Given the description of an element on the screen output the (x, y) to click on. 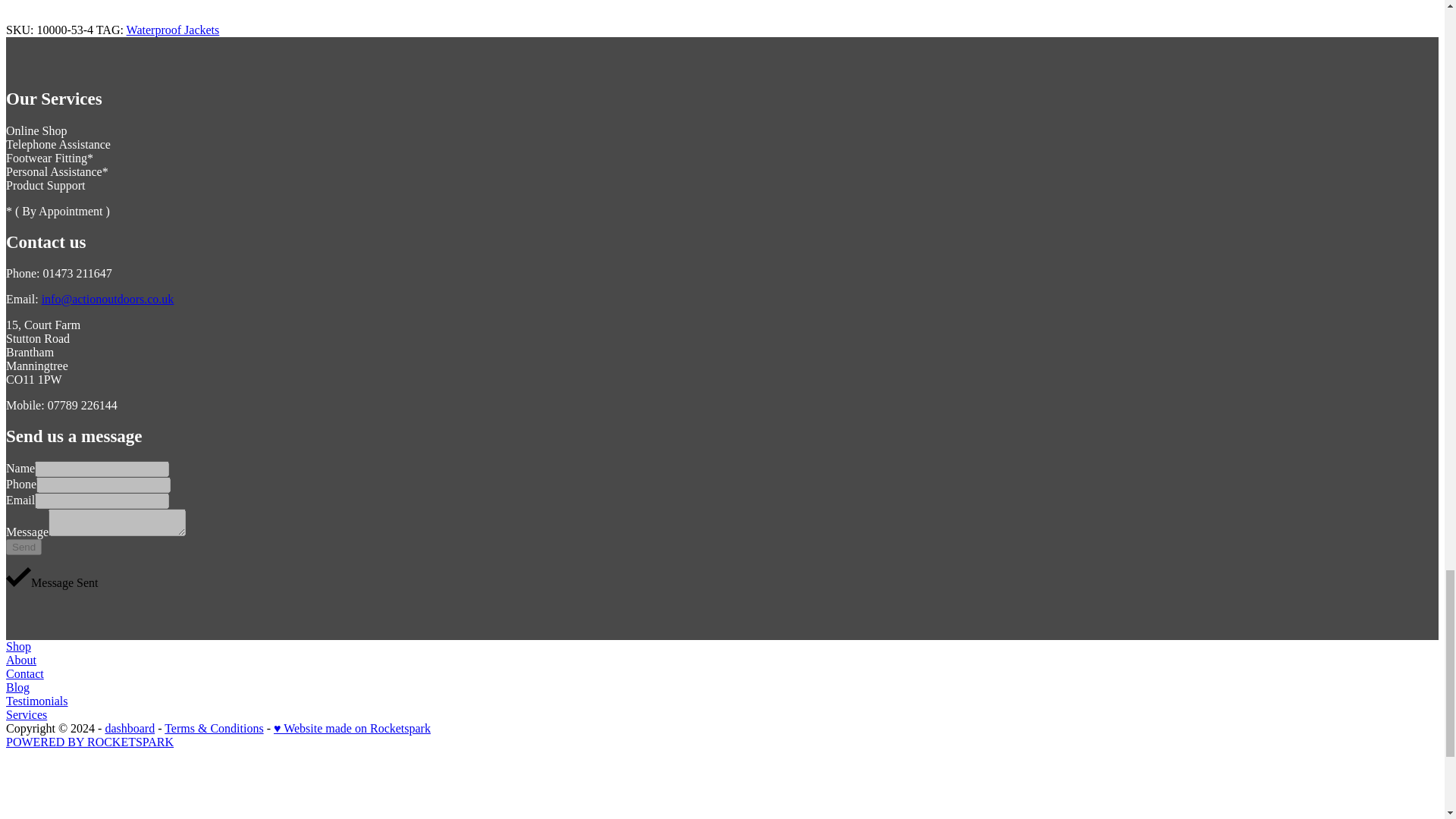
Waterproof Jackets (172, 29)
dashboard (129, 727)
Send (23, 546)
POWERED BY ROCKETSPARK (89, 741)
